Given the description of an element on the screen output the (x, y) to click on. 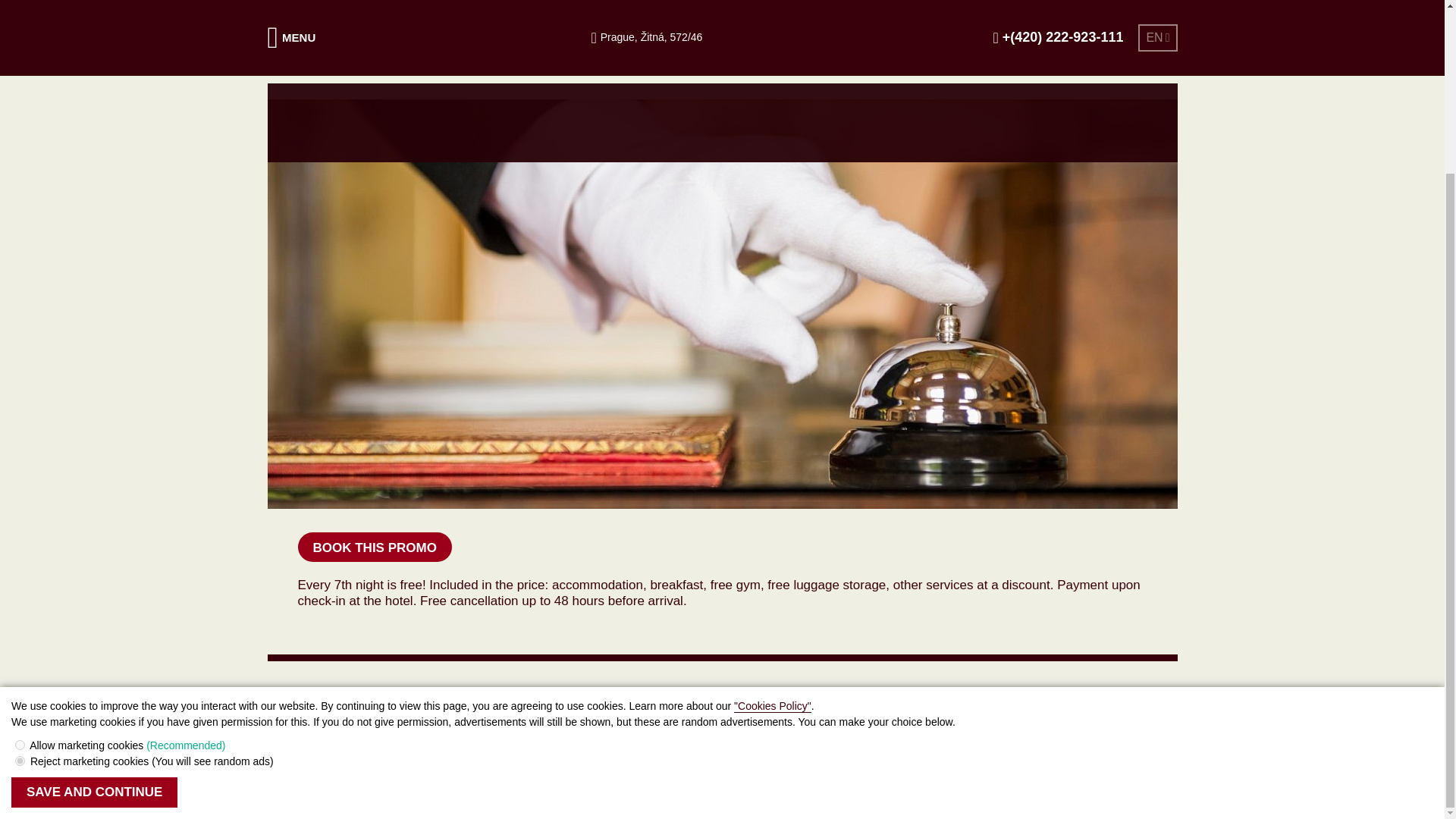
Special offers (362, 51)
Home (284, 51)
Special offers (362, 51)
0 (19, 551)
Boutique Hotel Seven Days , Prague (352, 759)
0 (19, 535)
SAVE AND CONTINUE (94, 583)
Legal information (306, 791)
"Cookies Policy" (771, 496)
Home (284, 51)
BOOK THIS PROMO (374, 546)
